Given the description of an element on the screen output the (x, y) to click on. 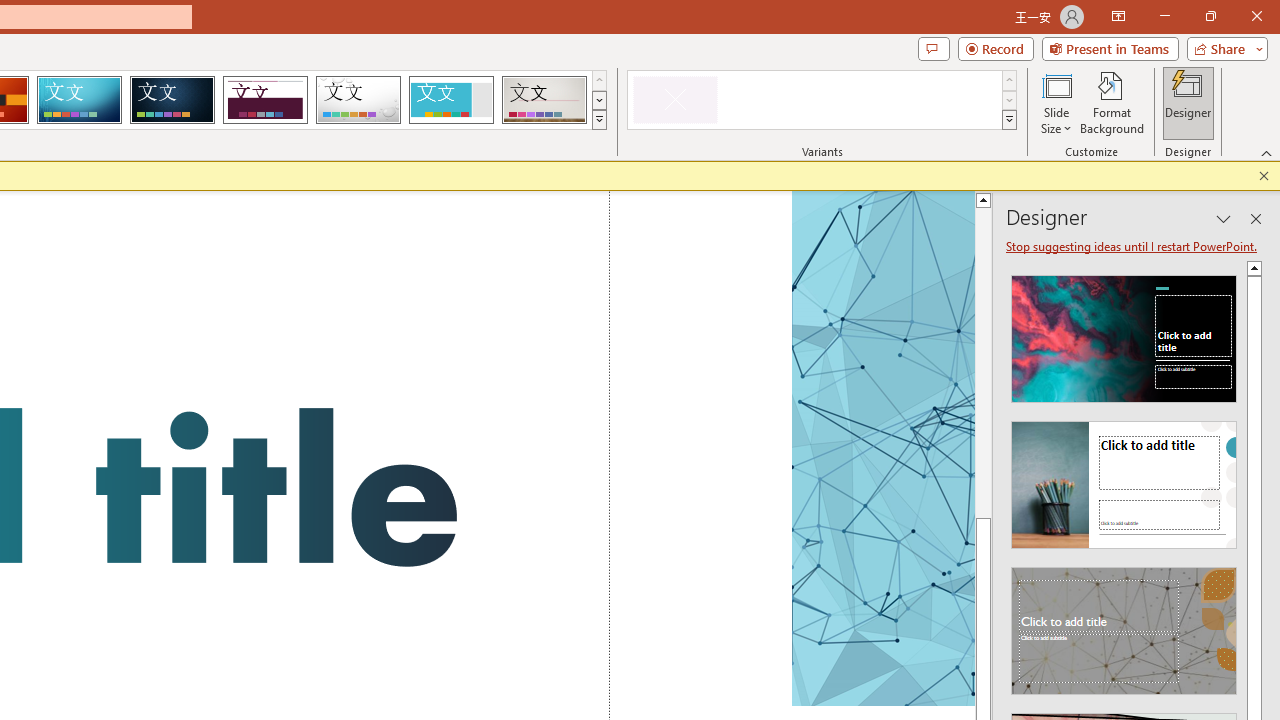
AutomationID: ThemeVariantsGallery (822, 99)
